Given the description of an element on the screen output the (x, y) to click on. 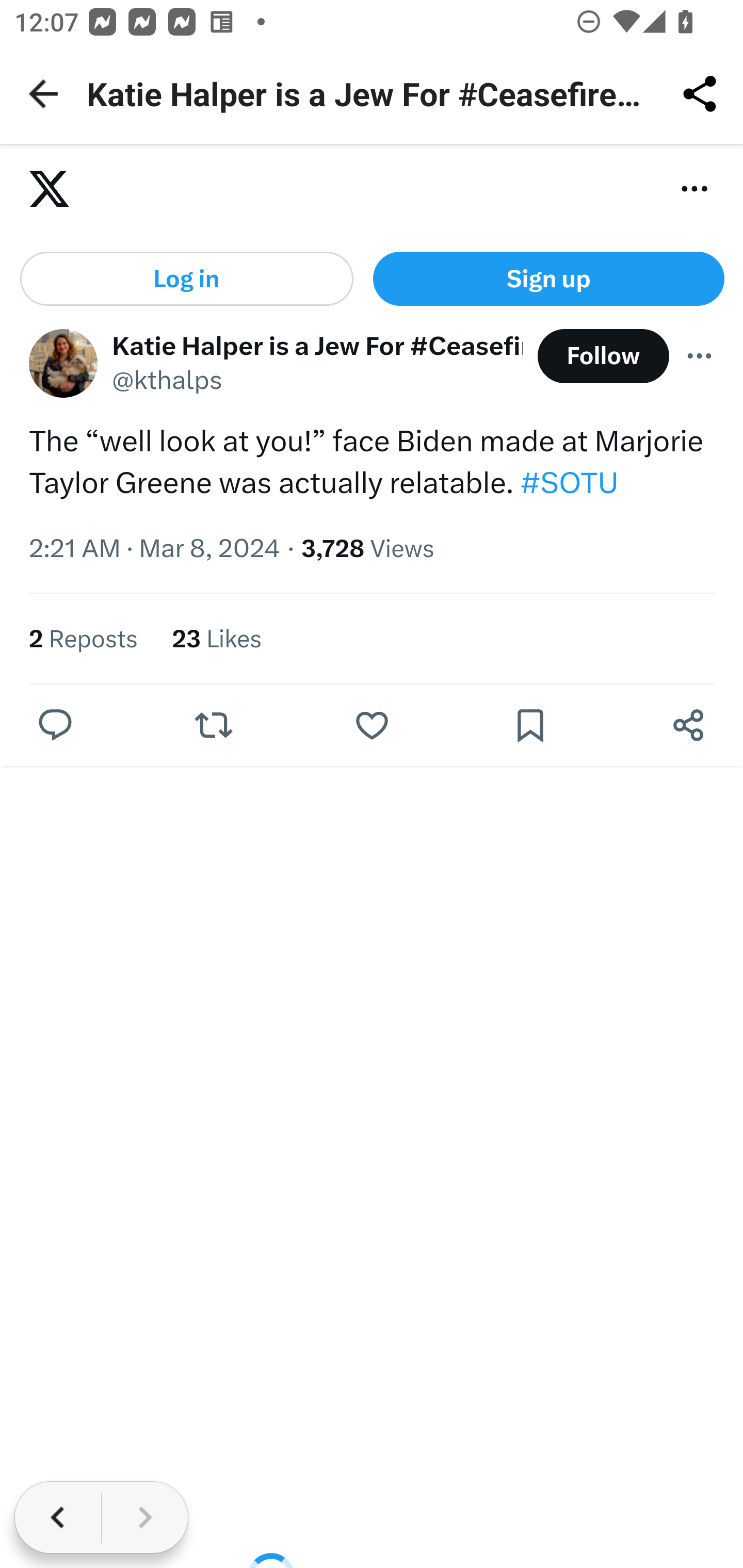
kthalps (63, 364)
Katie Halper is a Jew For #CeasefireNow (317, 347)
Follow @kthalps (602, 357)
More (699, 356)
@kthalps (167, 383)
#SOTU (569, 484)
2:21 AM · Mar 8, 2024 (154, 548)
2 Reposts 2   Reposts (83, 638)
23 Likes 23   Likes (217, 638)
Reply (55, 727)
Repost (212, 727)
Like (371, 727)
0 Bookmarks. Bookmark (534, 727)
Share post (688, 727)
